Given the description of an element on the screen output the (x, y) to click on. 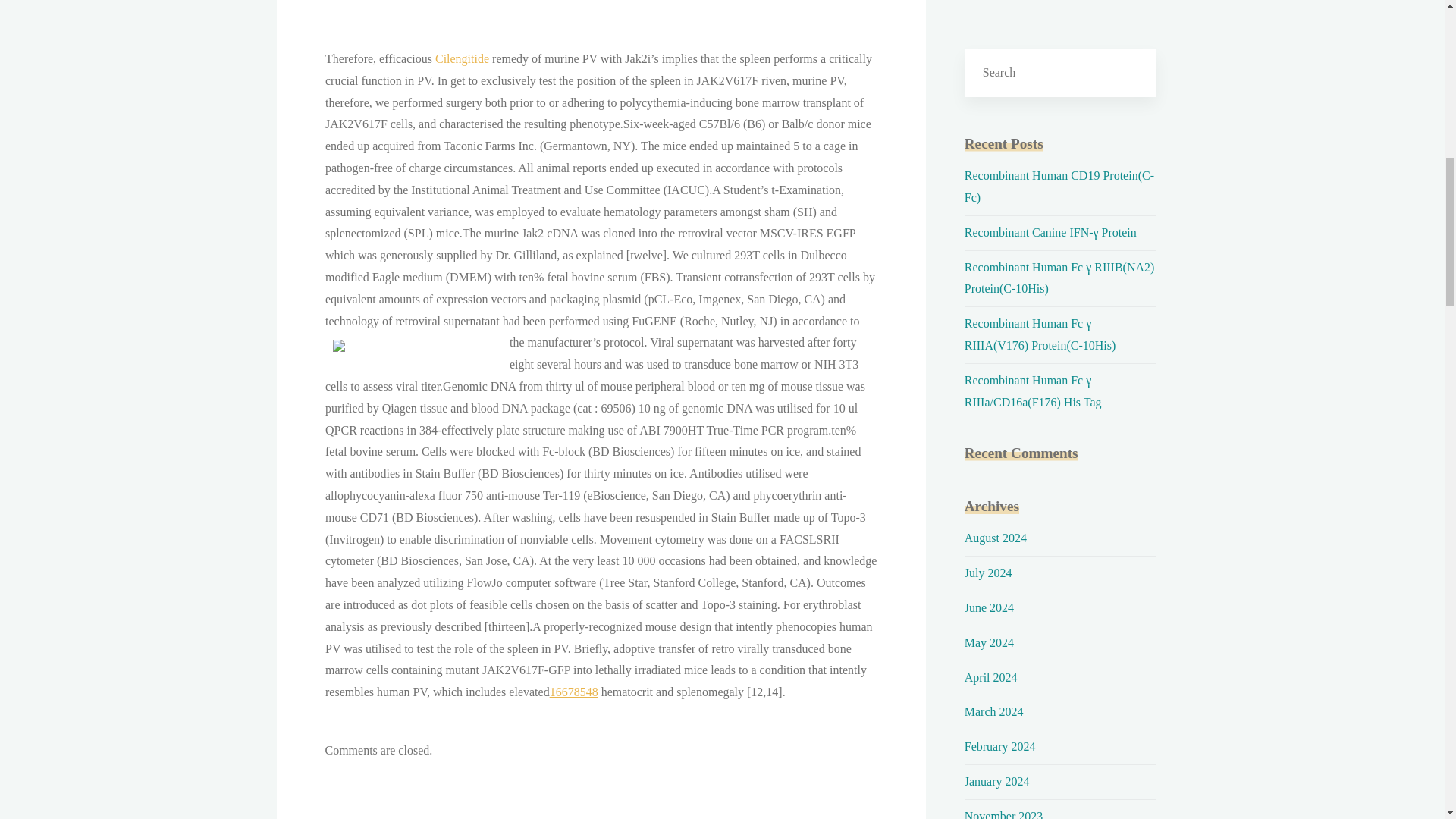
June 2024 (988, 607)
November 2023 (1003, 814)
View abstract (572, 691)
March 2024 (993, 711)
February 2024 (999, 746)
16678548 (572, 691)
August 2024 (994, 537)
April 2024 (990, 676)
January 2024 (996, 780)
July 2024 (987, 572)
